Given the description of an element on the screen output the (x, y) to click on. 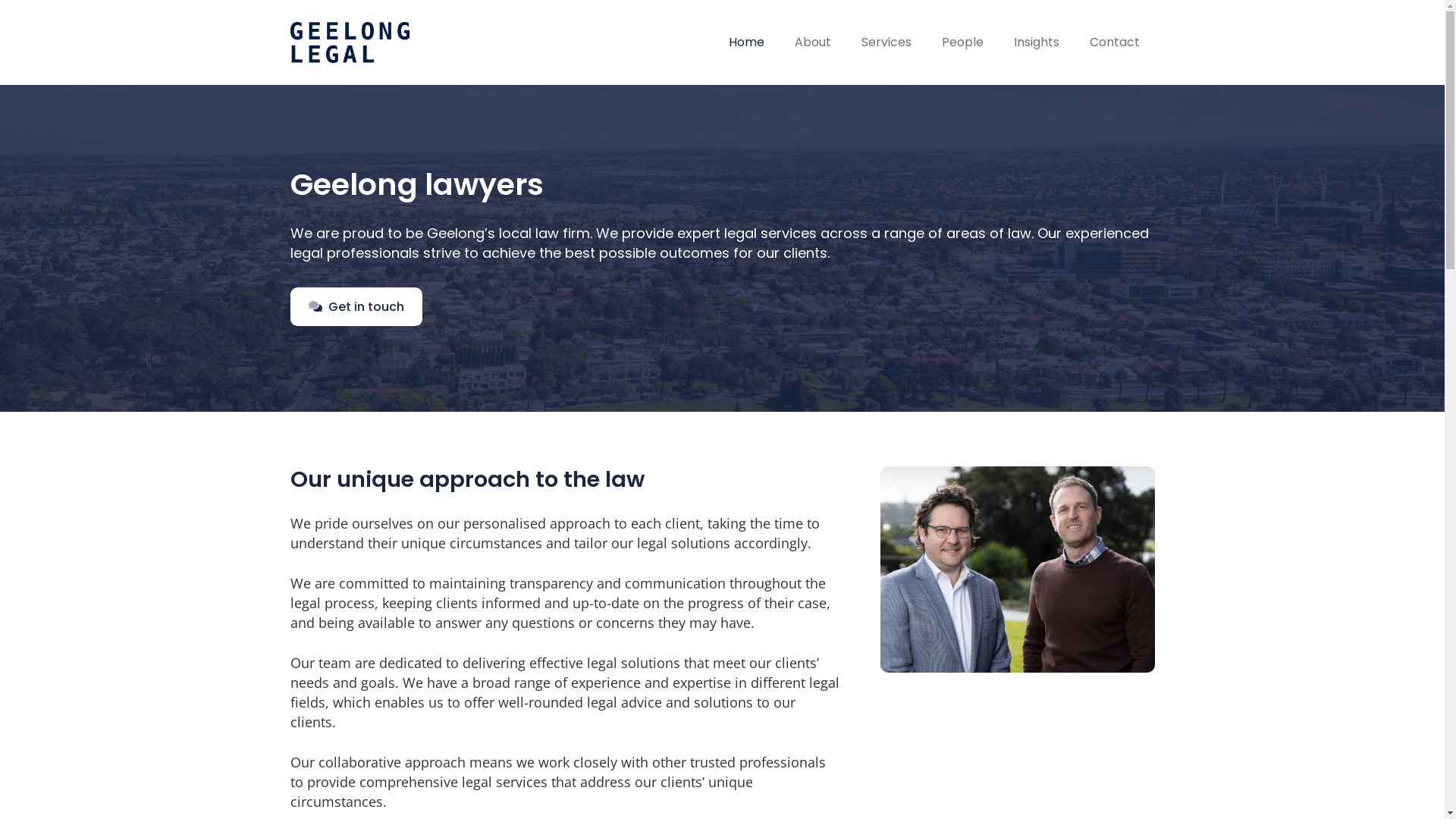
People Element type: text (962, 42)
Contact Element type: text (1113, 42)
Get in touch Element type: text (355, 306)
Home Element type: text (745, 42)
Insights Element type: text (1035, 42)
About Element type: text (812, 42)
experience and expertise Element type: text (650, 682)
Services Element type: text (886, 42)
